Given the description of an element on the screen output the (x, y) to click on. 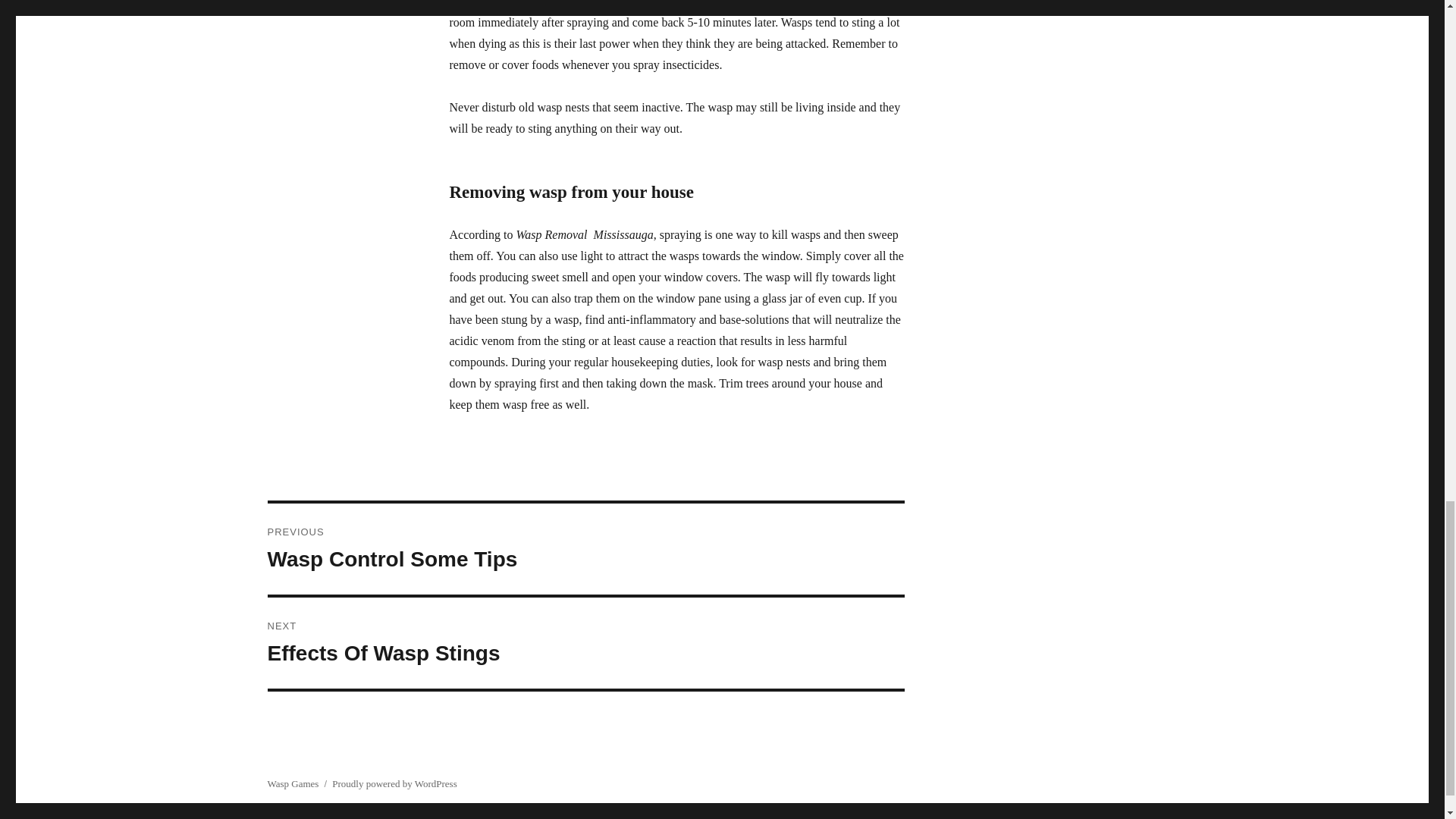
Wasp Games (292, 783)
Proudly powered by WordPress (394, 783)
